Given the description of an element on the screen output the (x, y) to click on. 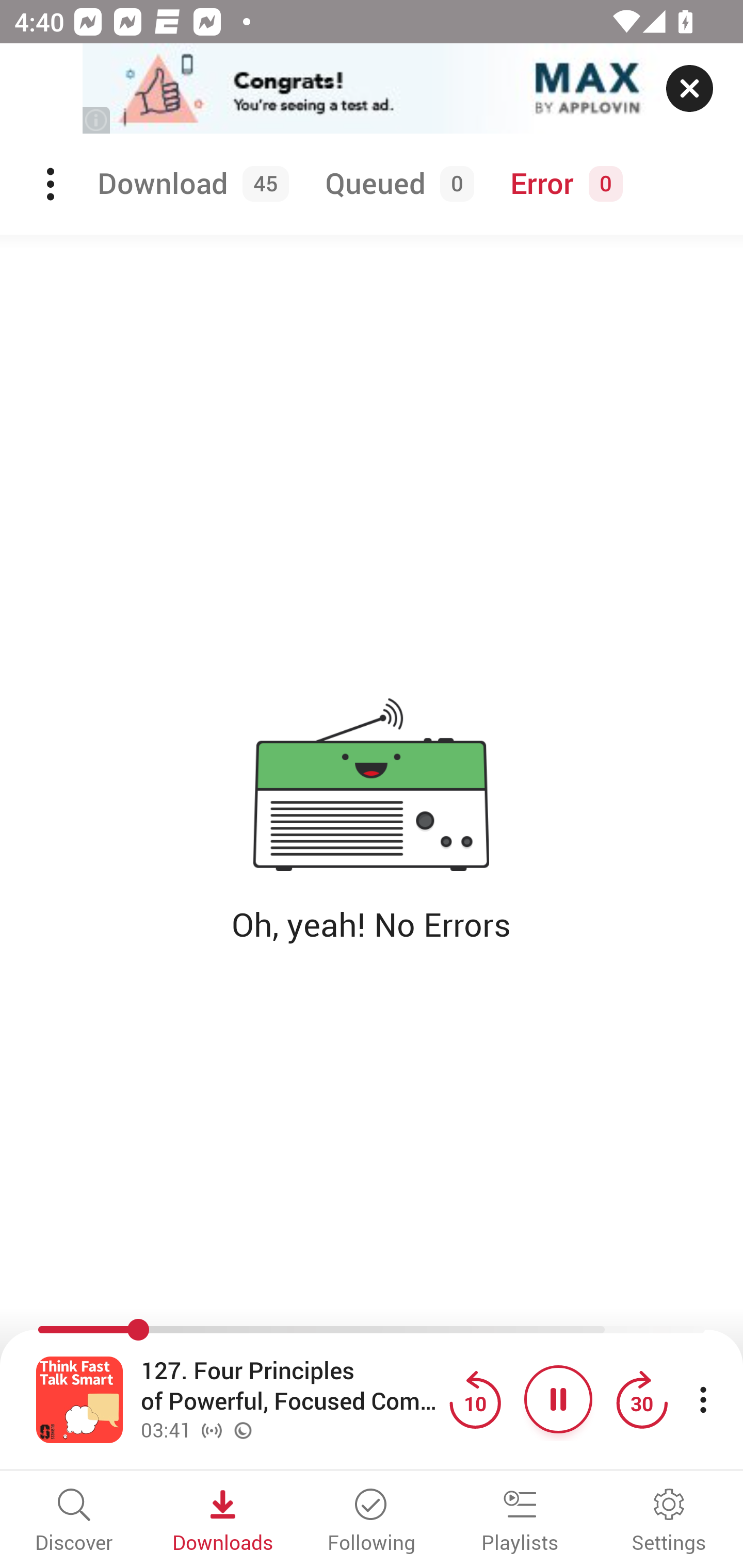
app-monetization (371, 88)
(i) (96, 119)
Menu (52, 184)
 Download 45 (189, 184)
 Queued 0 (396, 184)
 Error 0 (562, 184)
Open fullscreen player (79, 1399)
More player controls (703, 1399)
Pause button (558, 1398)
Jump back (475, 1399)
Jump forward (641, 1399)
Discover (74, 1521)
Downloads (222, 1521)
Following (371, 1521)
Playlists (519, 1521)
Settings (668, 1521)
